Given the description of an element on the screen output the (x, y) to click on. 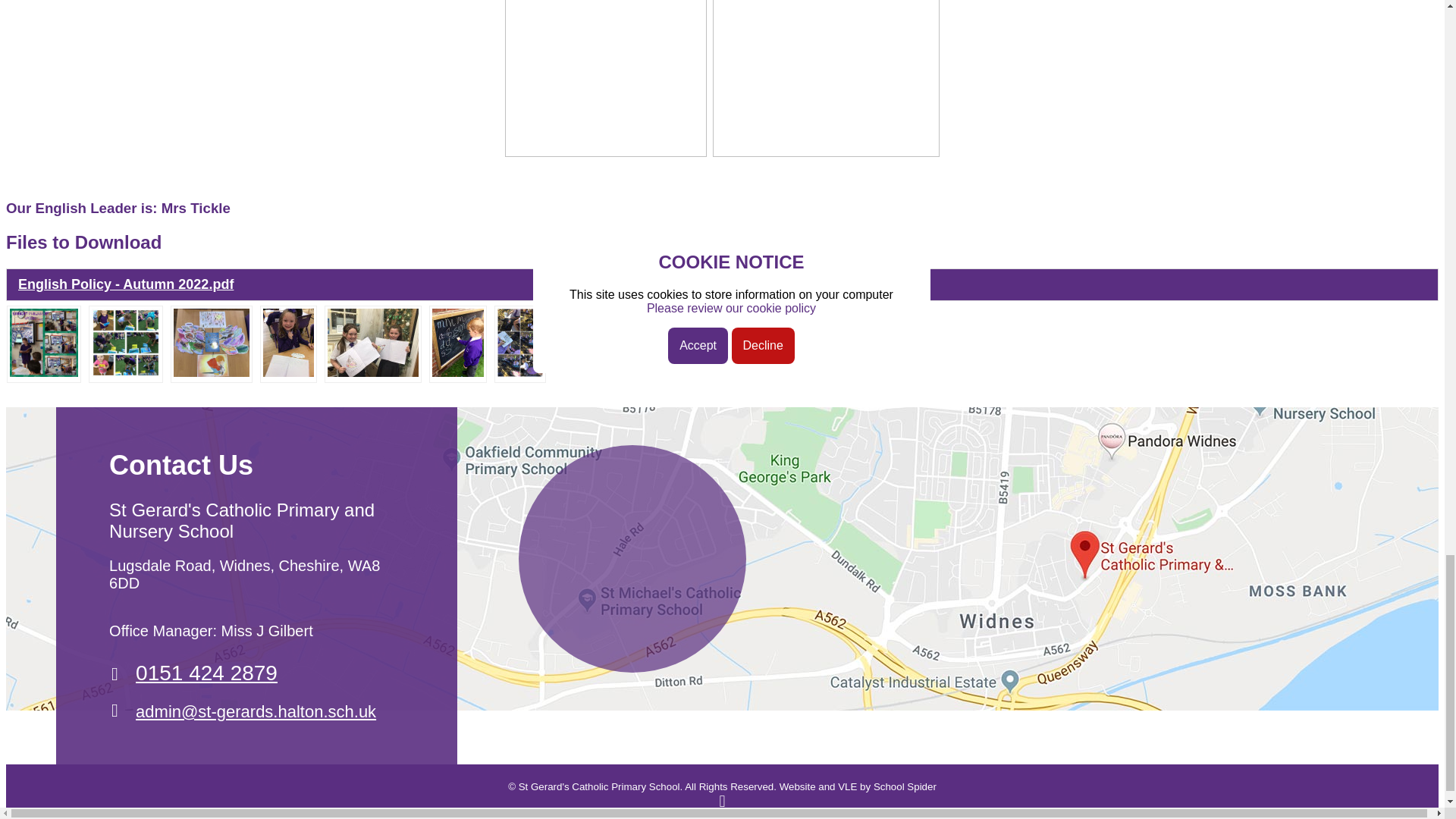
529C74E9-675F-4133-8D83-7F9F669C57B2.jpeg (125, 372)
15F83D19-8A32-4CB7-ABB5-389BB5344A39.jpeg (457, 372)
3DC4EDB1-772B-4D42-97F2-0C08AF58D5CF.jpeg (44, 372)
8BAEBDF0-6DD8-473C-9933-2BC0794664FF.jpeg (373, 372)
25839966-EC2A-4FA7-9987-7AEE62E906A1.jpeg (520, 372)
746C861E-42F6-45ED-B124-E478B8D6514E.jpeg (288, 372)
D99DC8EC-5F03-47F2-BE97-3D35E5A0CE8B.jpeg (210, 372)
